Given the description of an element on the screen output the (x, y) to click on. 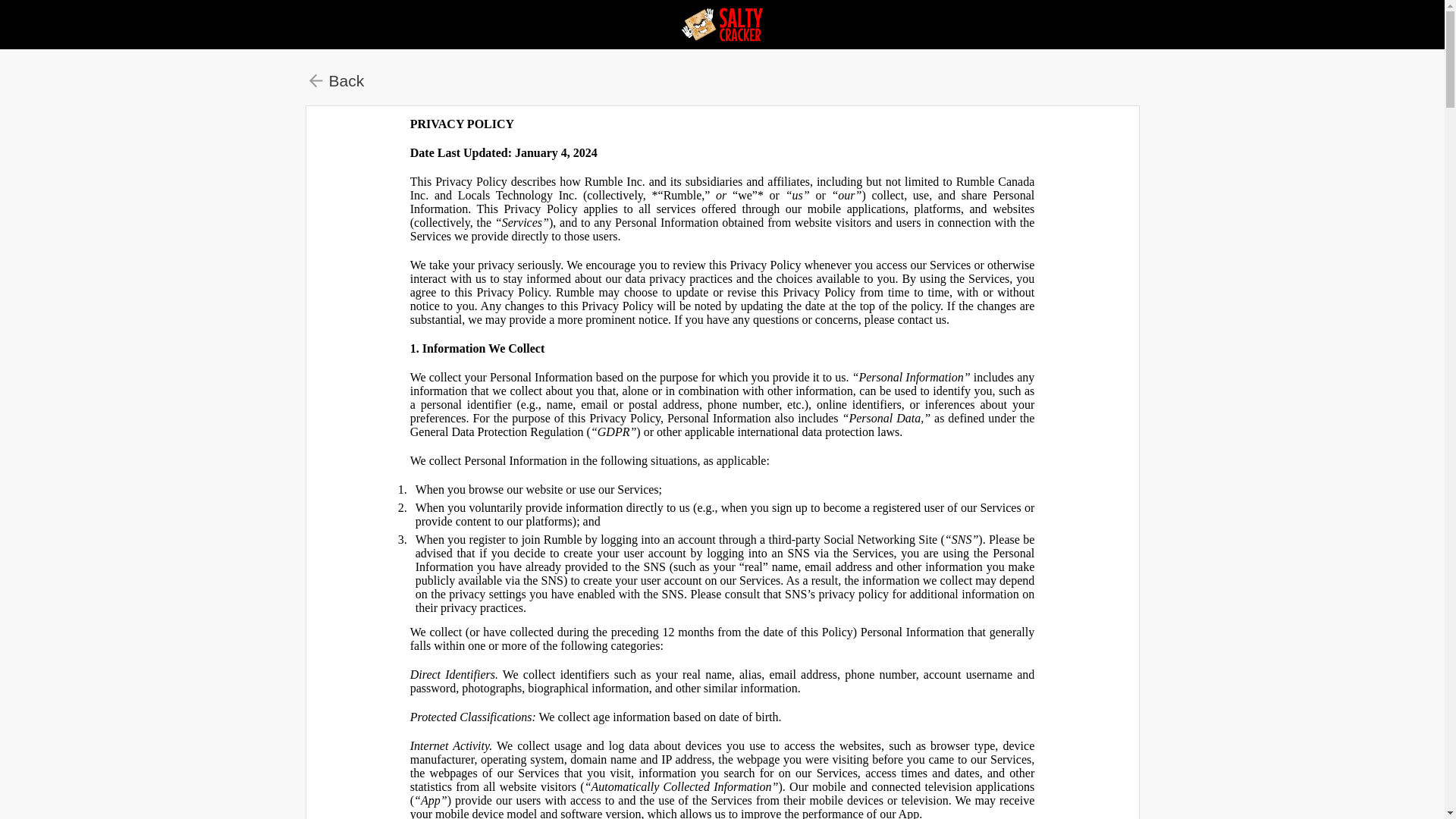
Back (336, 81)
